Given the description of an element on the screen output the (x, y) to click on. 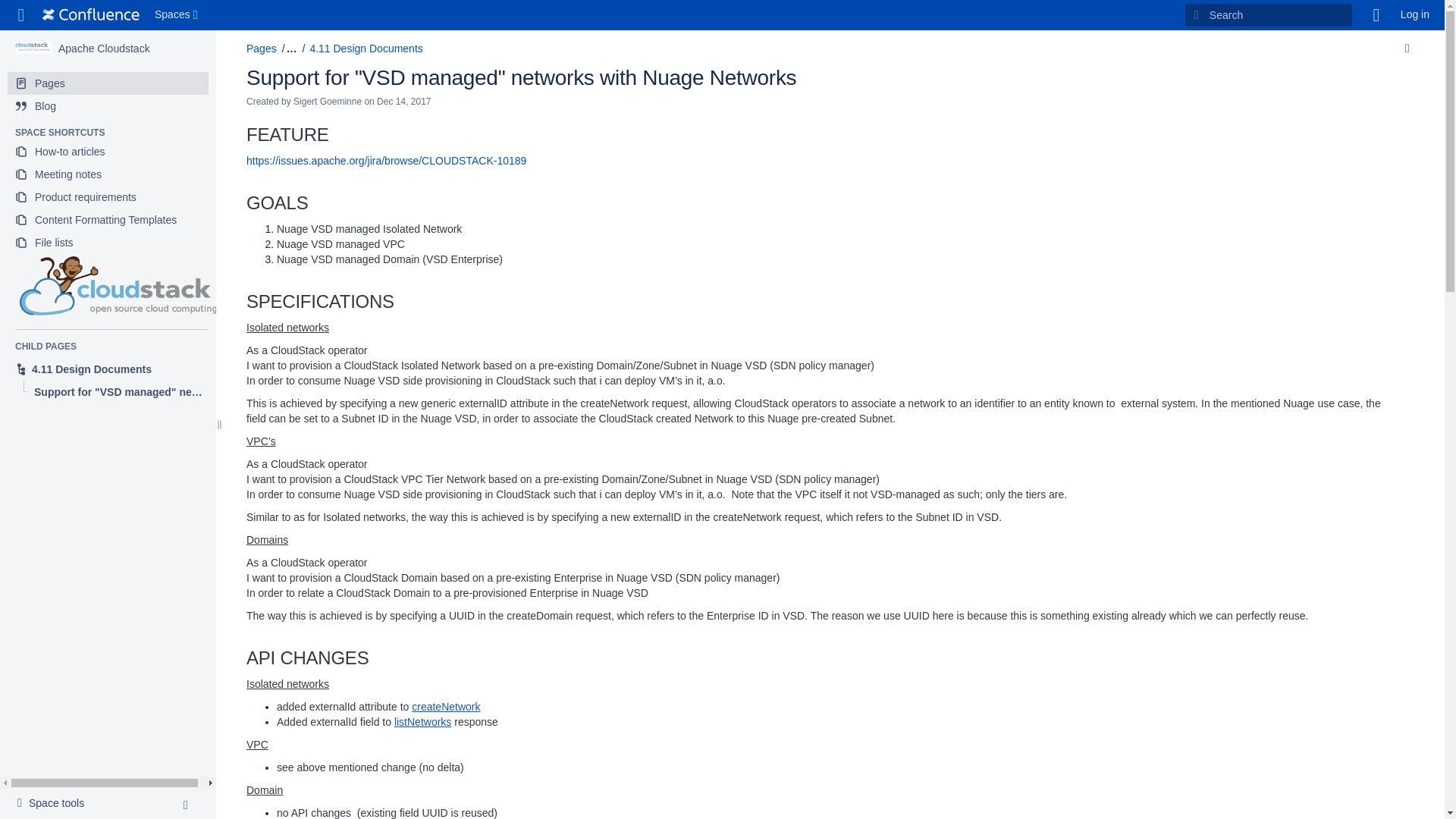
Apache Cloudstack (103, 48)
Pages (107, 83)
4.11 Design Documents (107, 368)
Apache Cloudstack (54, 803)
Meeting notes (32, 47)
How-to articles (107, 173)
Content Formatting Templates (107, 151)
Apache Cloudstack (107, 219)
Apache Software Foundation (103, 48)
